Given the description of an element on the screen output the (x, y) to click on. 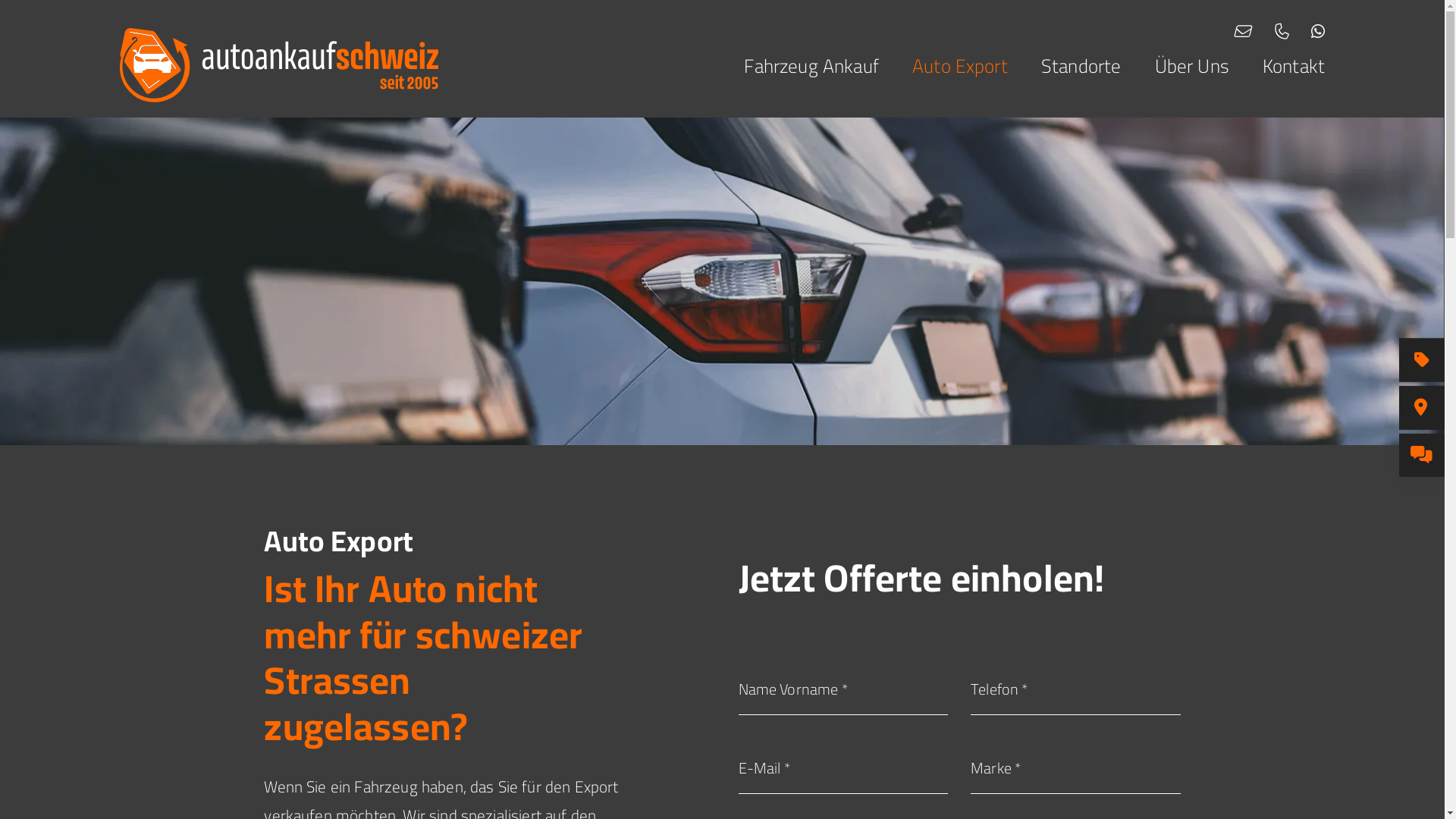
Standorte Element type: text (1064, 65)
Kontakt Element type: text (1276, 65)
Auto Export Element type: text (942, 65)
Fahrzeug Ankauf Element type: text (794, 65)
